Given the description of an element on the screen output the (x, y) to click on. 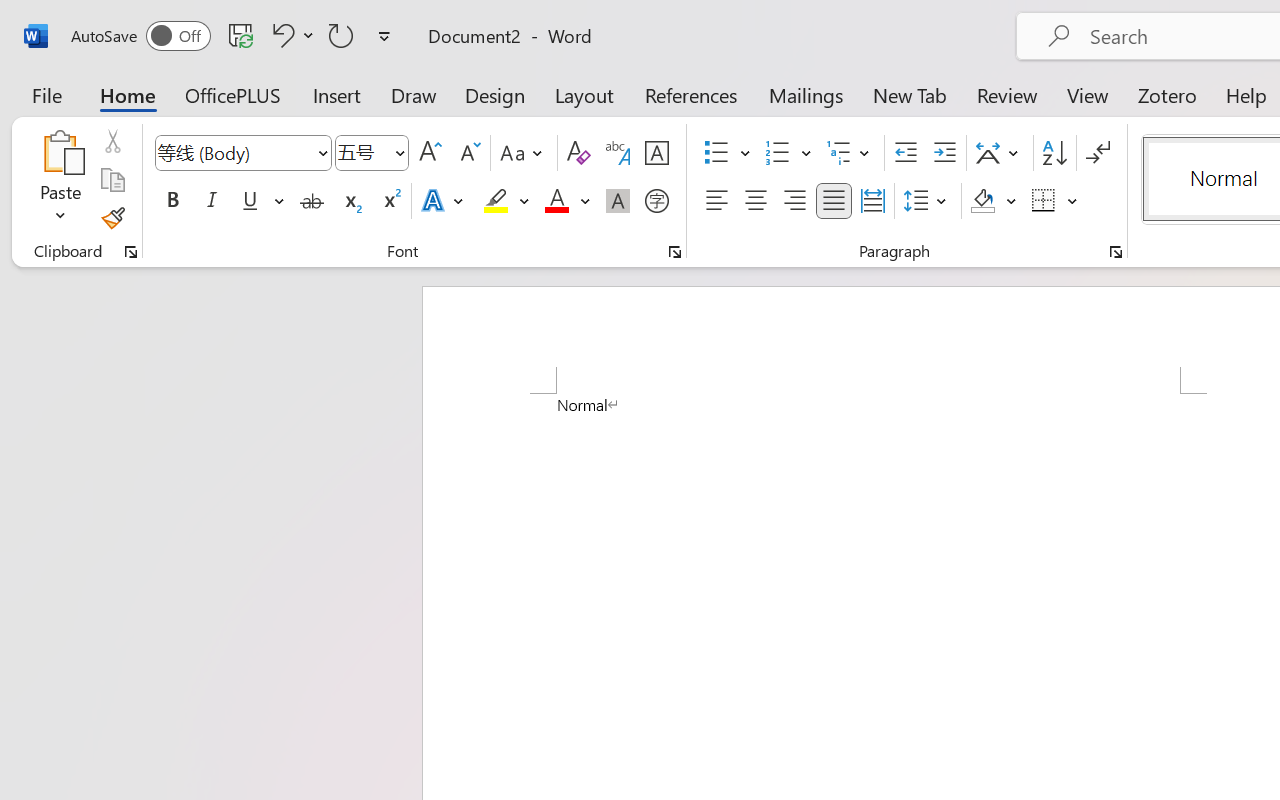
Insert (337, 94)
Font (234, 152)
Strikethrough (312, 201)
Undo Apply Quick Style (290, 35)
Align Right (794, 201)
Text Highlight Color (506, 201)
Save (241, 35)
Subscript (350, 201)
Home (127, 94)
Undo Apply Quick Style (280, 35)
Mailings (806, 94)
Open (399, 152)
Customize Quick Access Toolbar (384, 35)
Multilevel List (850, 153)
